Given the description of an element on the screen output the (x, y) to click on. 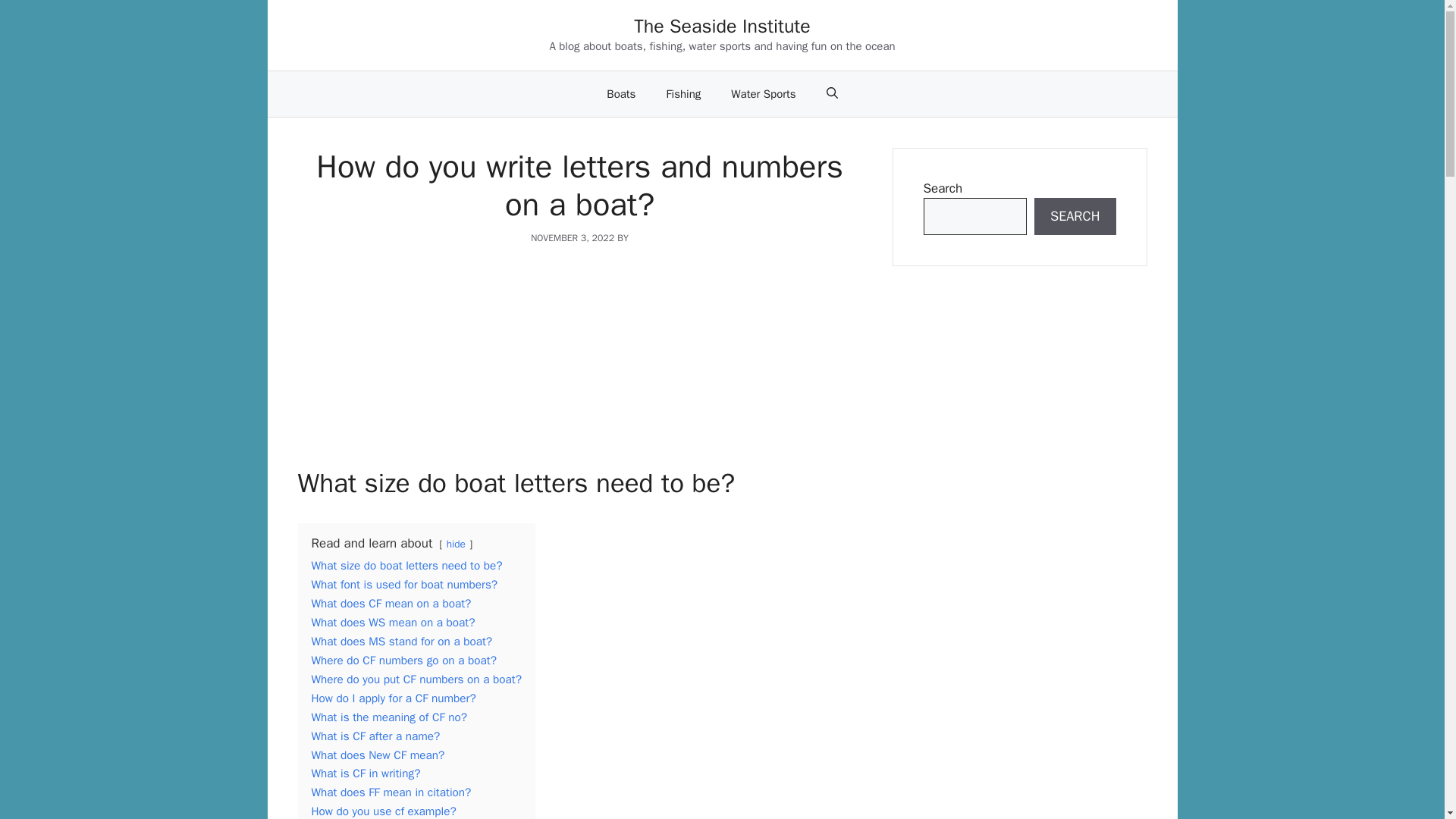
The Seaside Institute (721, 25)
What does CF mean on a boat? (390, 603)
What does MS stand for on a boat? (401, 641)
What is CF after a name? (375, 735)
hide (455, 543)
Where do CF numbers go on a boat? (403, 660)
What is CF in writing? (365, 773)
Water Sports (763, 94)
How do you write letters and numbers on a boat? (579, 366)
What does WS mean on a boat? (392, 622)
What size do boat letters need to be? (406, 565)
What font is used for boat numbers? (404, 584)
What does FF mean in citation? (390, 792)
How do I apply for a CF number? (393, 698)
Fishing (683, 94)
